Given the description of an element on the screen output the (x, y) to click on. 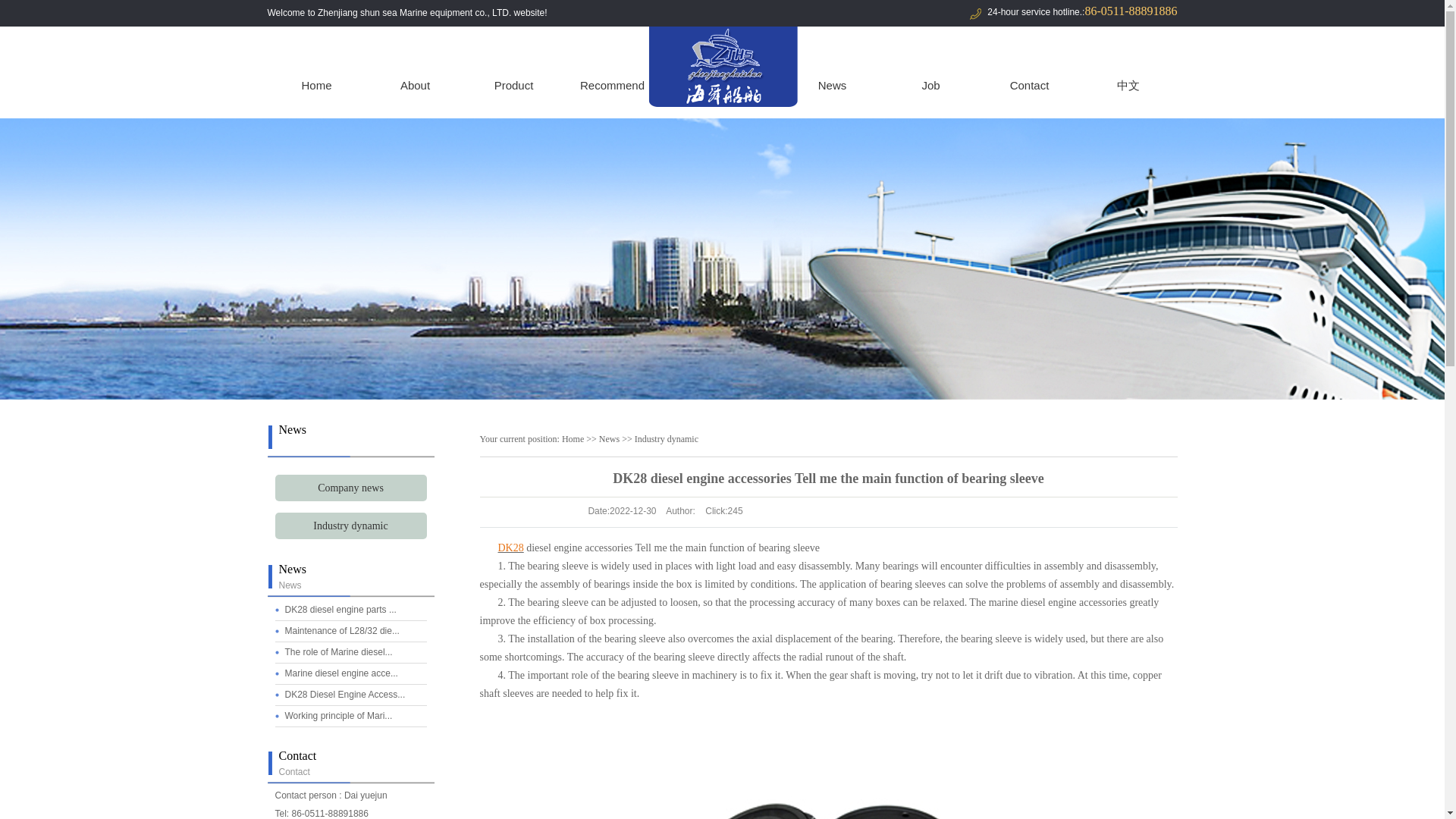
Industry dynamic (350, 525)
Working principle of Marine diesel engine parts (339, 715)
Marine diesel engine accessories selection (341, 673)
About (414, 85)
Company news (350, 488)
DK28 Diesel Engine Access... (345, 694)
News (831, 85)
Home (315, 85)
The role of Marine diesel engine accessories (339, 652)
Marine diesel engine acce... (341, 673)
Product (513, 85)
Recommend (611, 85)
The role of Marine diesel... (339, 652)
Working principle of Mari... (339, 715)
